Given the description of an element on the screen output the (x, y) to click on. 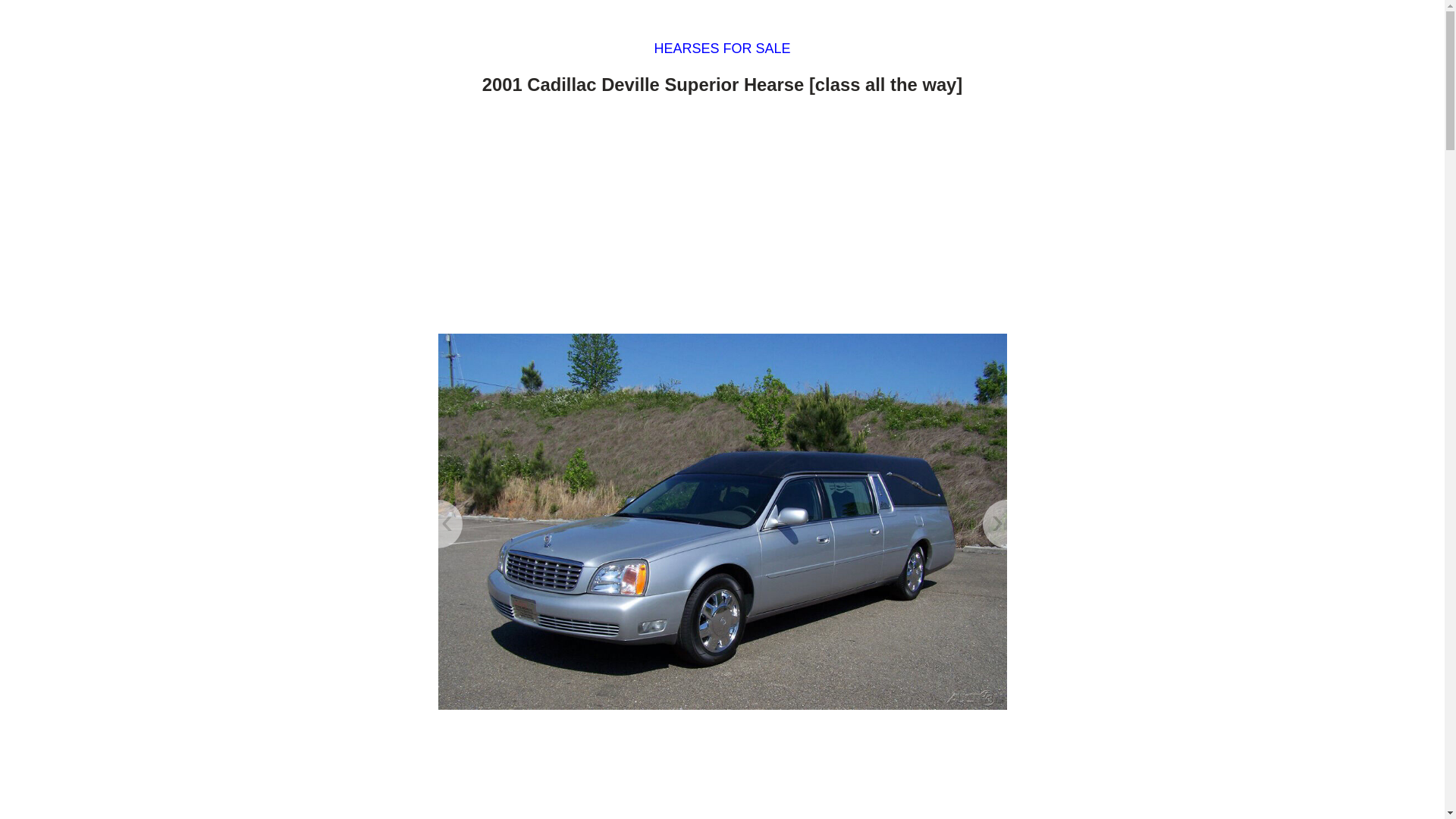
Advertisement (722, 218)
Advertisement (722, 770)
HEARSES FOR SALE (721, 48)
